Given the description of an element on the screen output the (x, y) to click on. 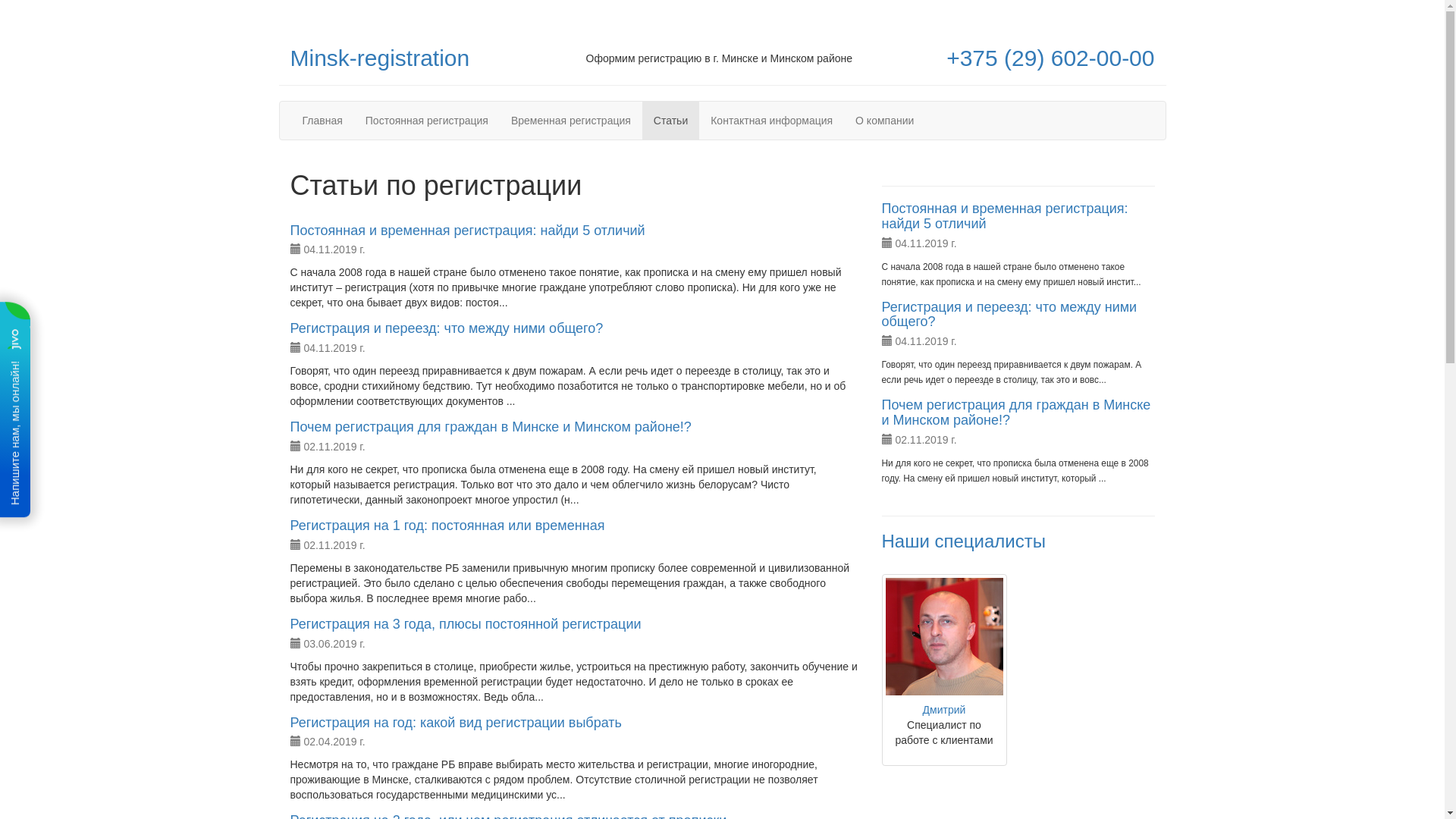
+375 (29) 602-00-00 Element type: text (1050, 57)
Minsk-registration Element type: text (379, 57)
